Given the description of an element on the screen output the (x, y) to click on. 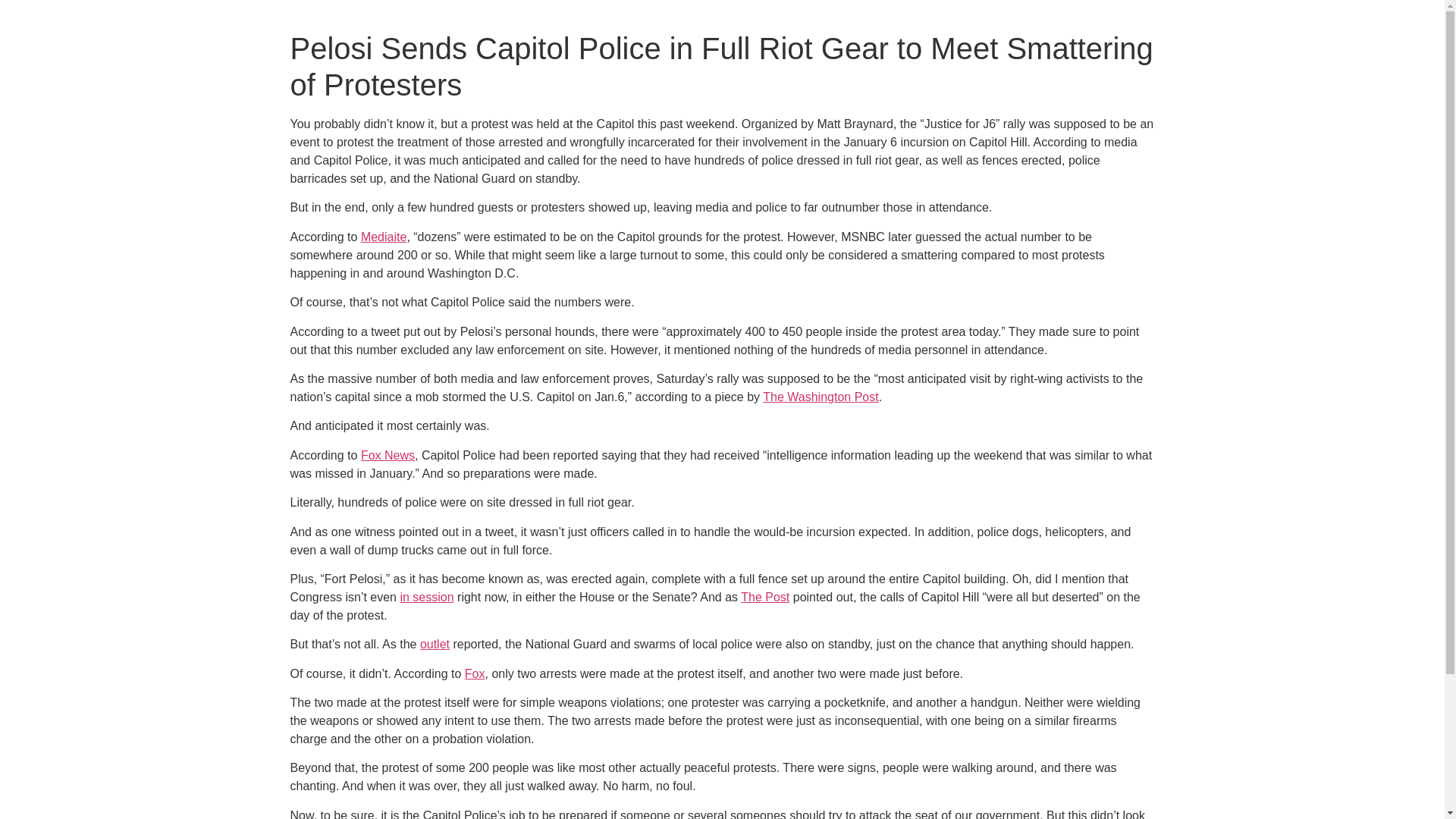
The Post (765, 596)
Fox News (387, 454)
Mediaite (383, 236)
in session (425, 596)
Fox (474, 673)
The Washington Post (819, 396)
outlet (434, 644)
